Given the description of an element on the screen output the (x, y) to click on. 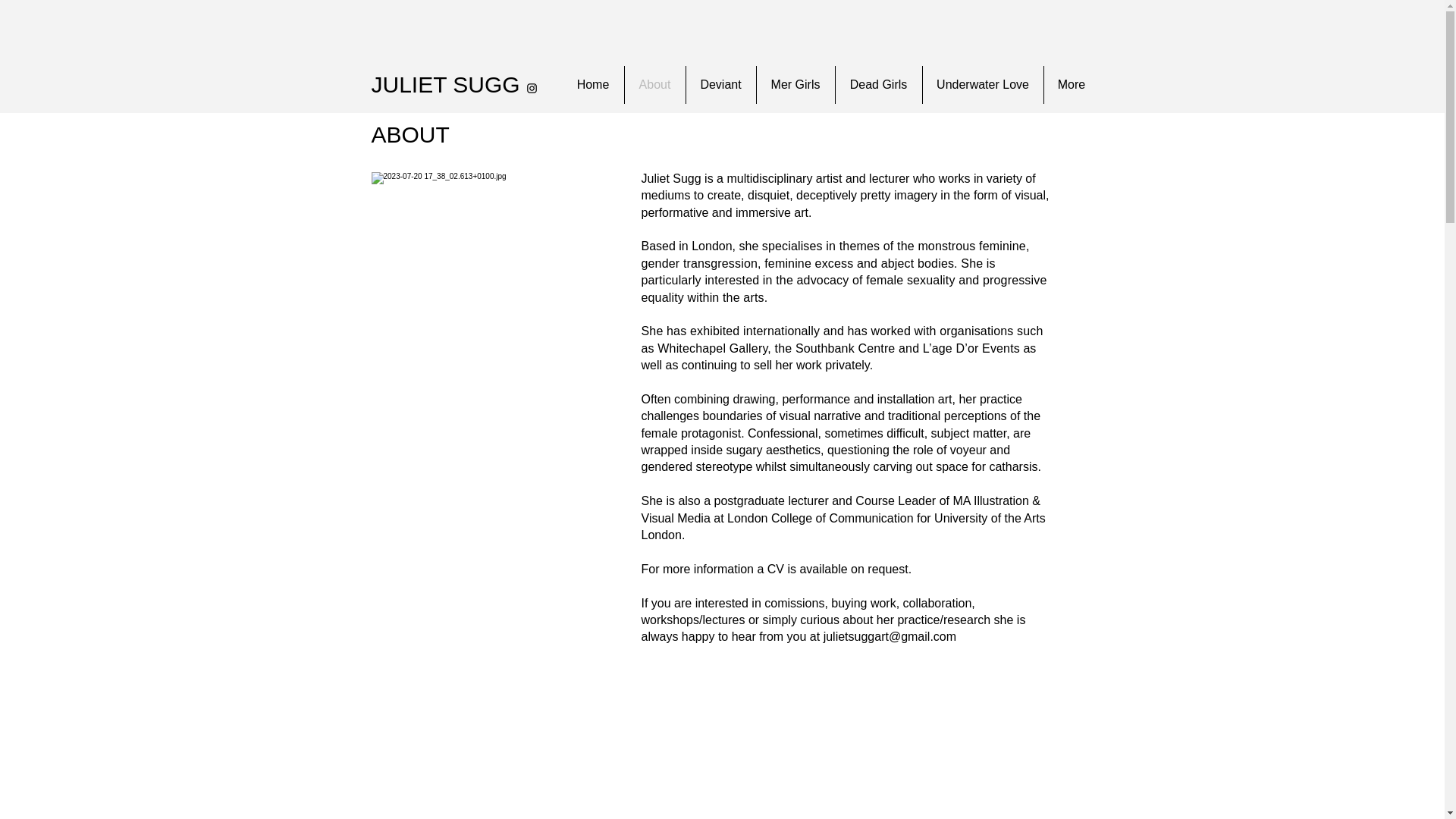
Underwater Love (981, 85)
JULIET SUGG (445, 84)
Mer Girls (795, 85)
Deviant (720, 85)
Home (593, 85)
Dead Girls (878, 85)
About (654, 85)
